Given the description of an element on the screen output the (x, y) to click on. 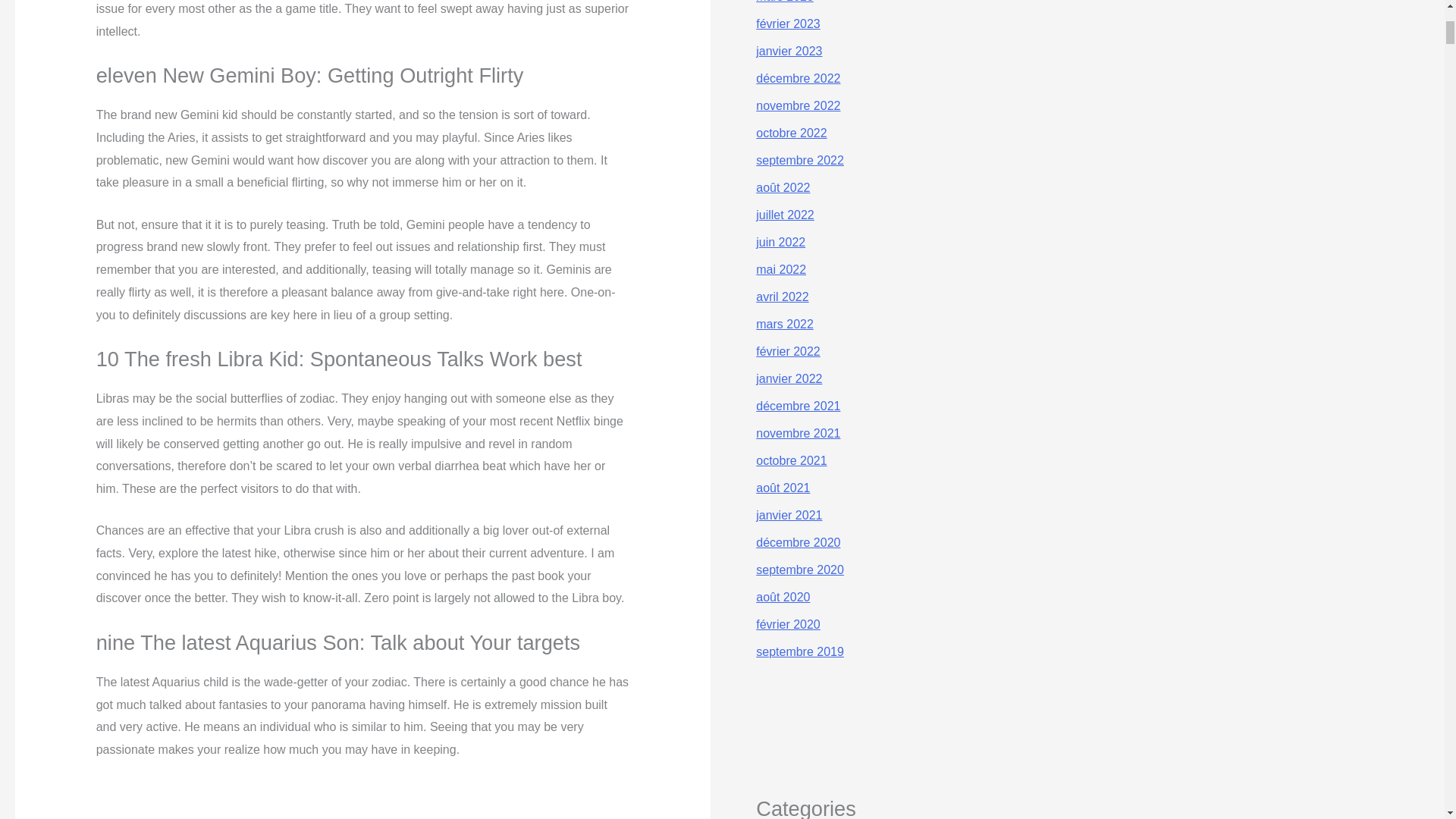
octobre 2022 (791, 132)
janvier 2023 (788, 51)
novembre 2022 (797, 105)
mars 2023 (784, 1)
